Given the description of an element on the screen output the (x, y) to click on. 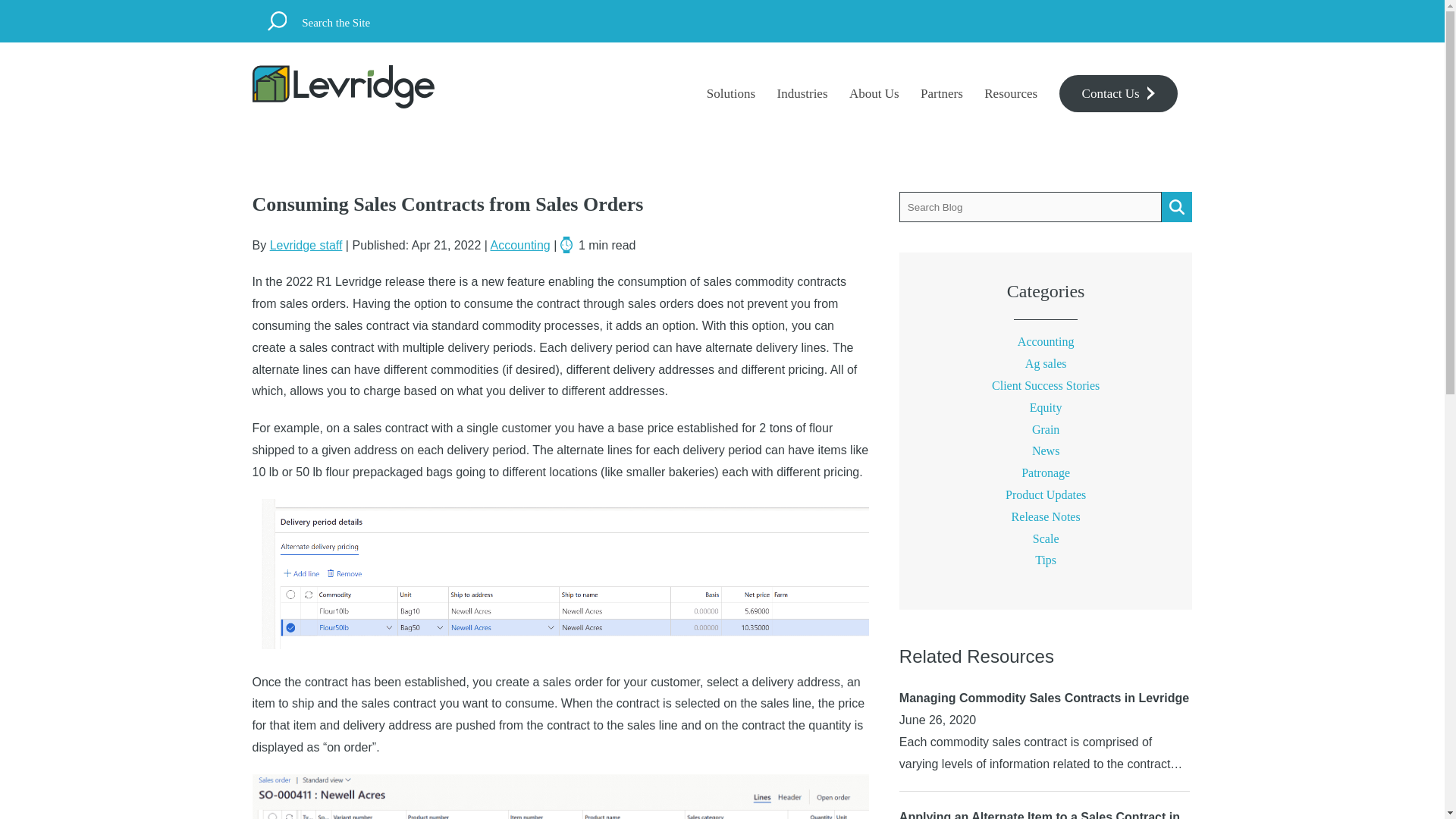
Solutions (730, 93)
Resources (1010, 93)
Partners (941, 93)
Equity (1045, 407)
Tips (1046, 559)
Contact Us (1118, 93)
Product Updates (1046, 494)
Industries (801, 93)
Levridge staff (305, 245)
Accounting (520, 245)
Accounting (1045, 341)
About Us (873, 93)
Grain (1045, 429)
Patronage (1046, 472)
Scale (1045, 538)
